Given the description of an element on the screen output the (x, y) to click on. 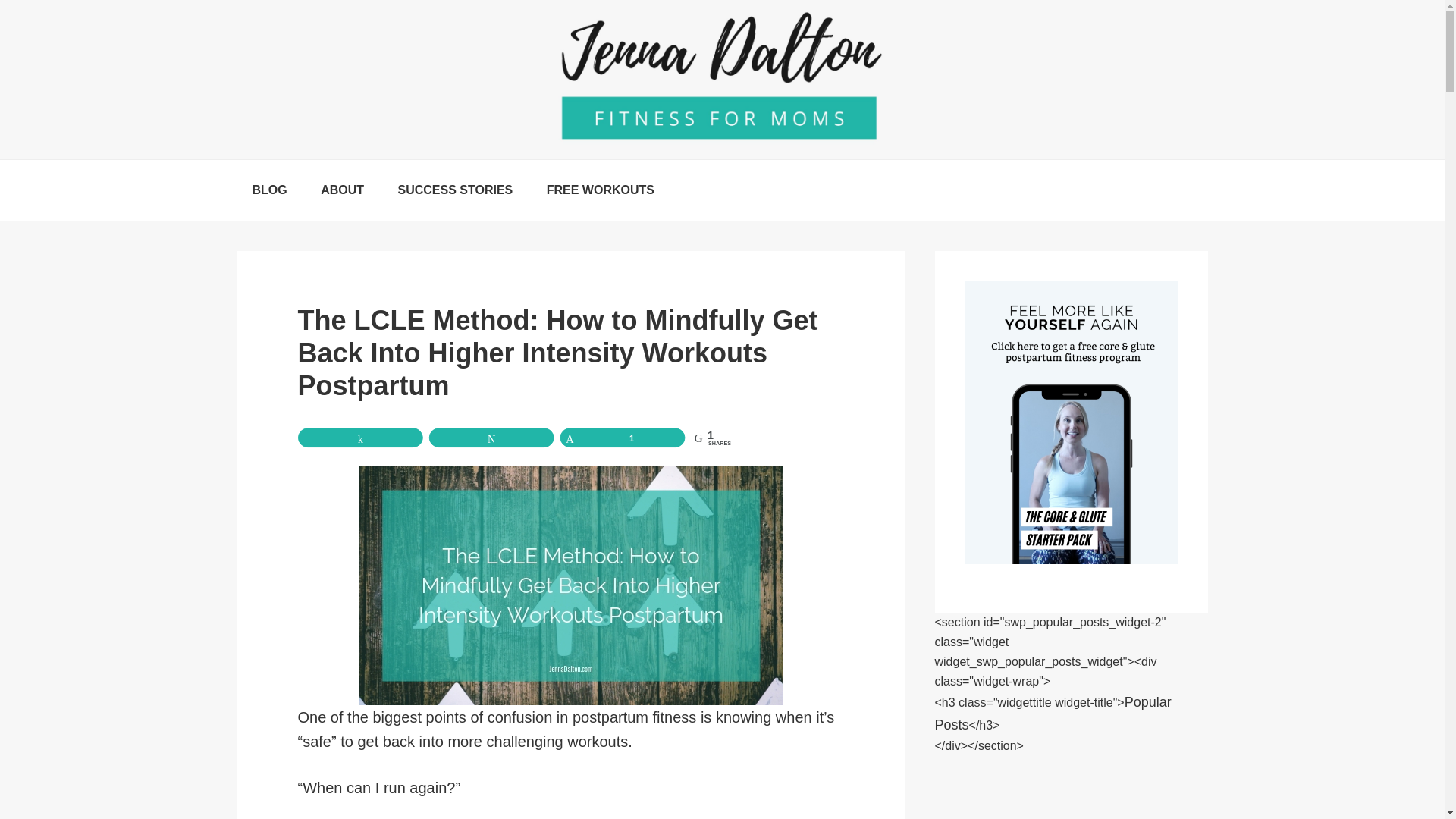
ABOUT (341, 189)
Jenna Dalton (722, 79)
SUCCESS STORIES (455, 189)
1 (637, 439)
FREE WORKOUTS (600, 189)
BLOG (268, 189)
